Given the description of an element on the screen output the (x, y) to click on. 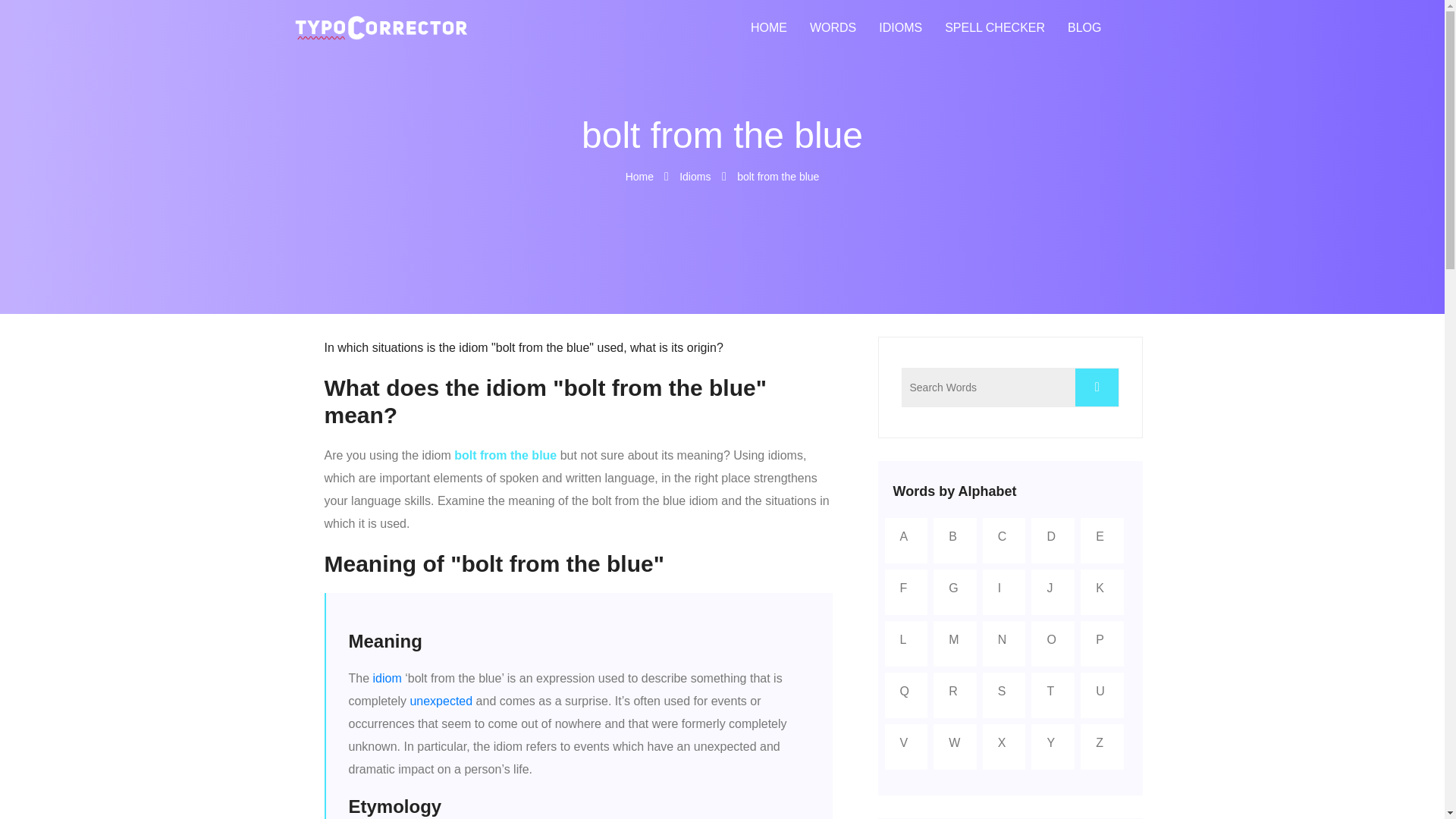
Words that start with K (1101, 588)
L (905, 639)
SPELL CHECKER (994, 28)
N (1003, 639)
Words that start with E (1101, 536)
A (905, 536)
C (1003, 536)
Words that start with A (905, 536)
Fix typo, Find and fix typos in the article (994, 28)
idiom (386, 677)
Idioms (694, 176)
M (954, 639)
unexpected (440, 700)
E (1101, 536)
What does the idiom "bolt from the blue" mean? (578, 401)
